Given the description of an element on the screen output the (x, y) to click on. 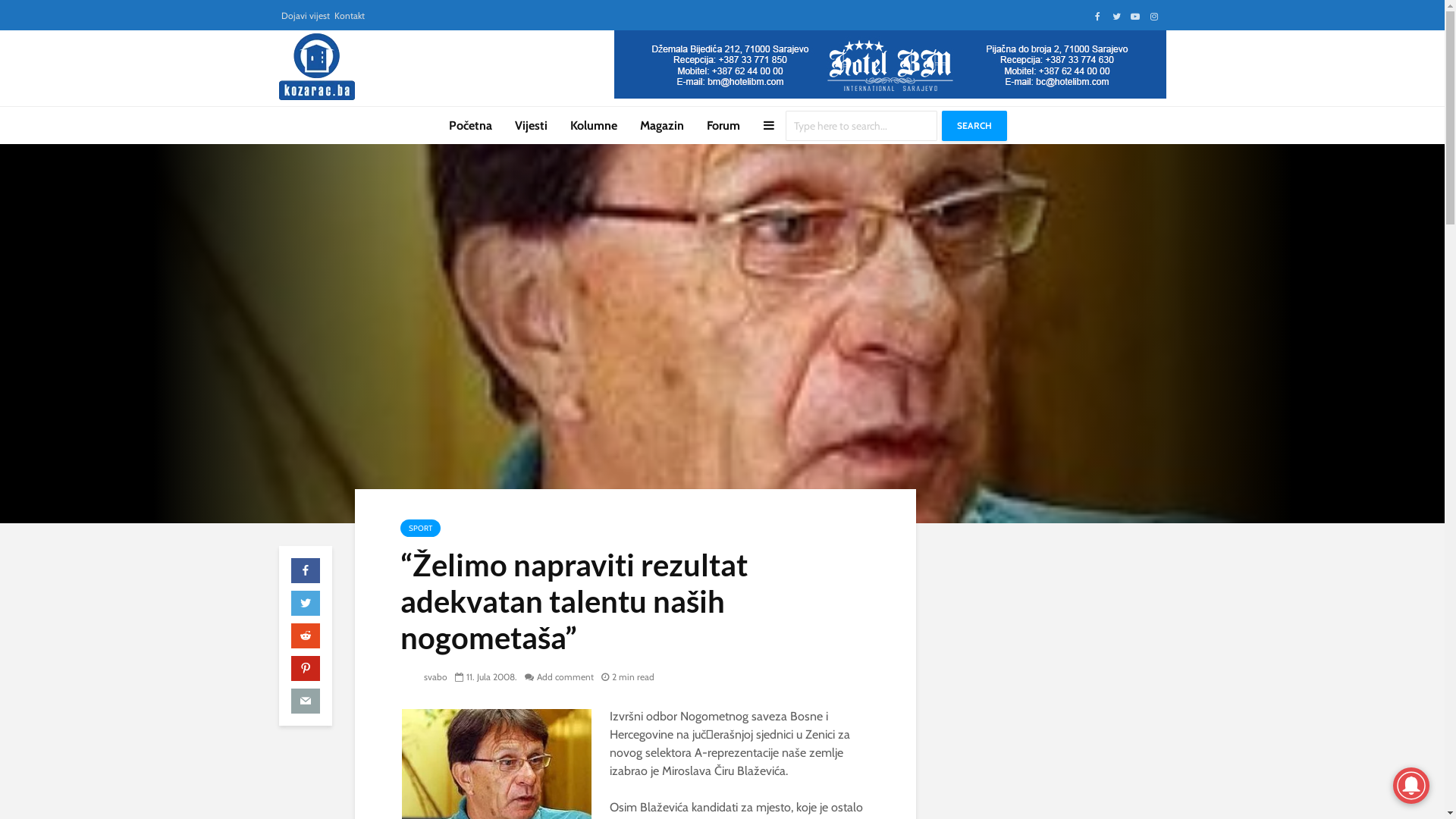
SEARCH Element type: text (974, 125)
SPORT Element type: text (420, 527)
svabo Element type: text (423, 676)
Vijesti Element type: text (530, 125)
Forum Element type: text (723, 125)
Magazin Element type: text (661, 125)
Add comment Element type: text (558, 676)
Dojavi vijest Element type: text (304, 15)
Kontakt Element type: text (348, 15)
Kolumne Element type: text (593, 125)
